Given the description of an element on the screen output the (x, y) to click on. 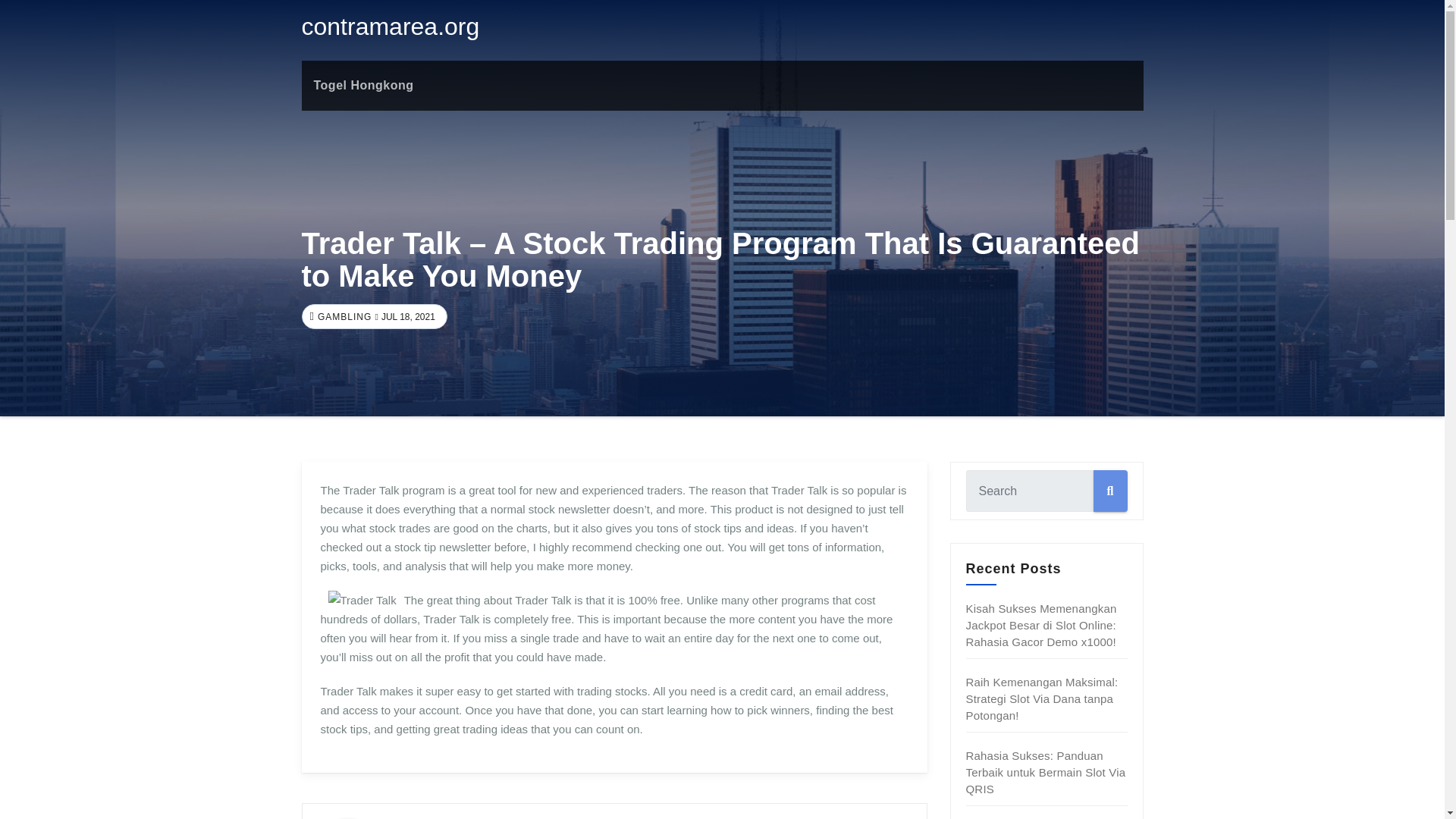
GAMBLING (342, 317)
Togel Hongkong (363, 85)
Togel Hongkong (363, 85)
contramarea.org (390, 26)
Rahasia Sukses: Panduan Terbaik untuk Bermain Slot Via QRIS (1045, 772)
